Given the description of an element on the screen output the (x, y) to click on. 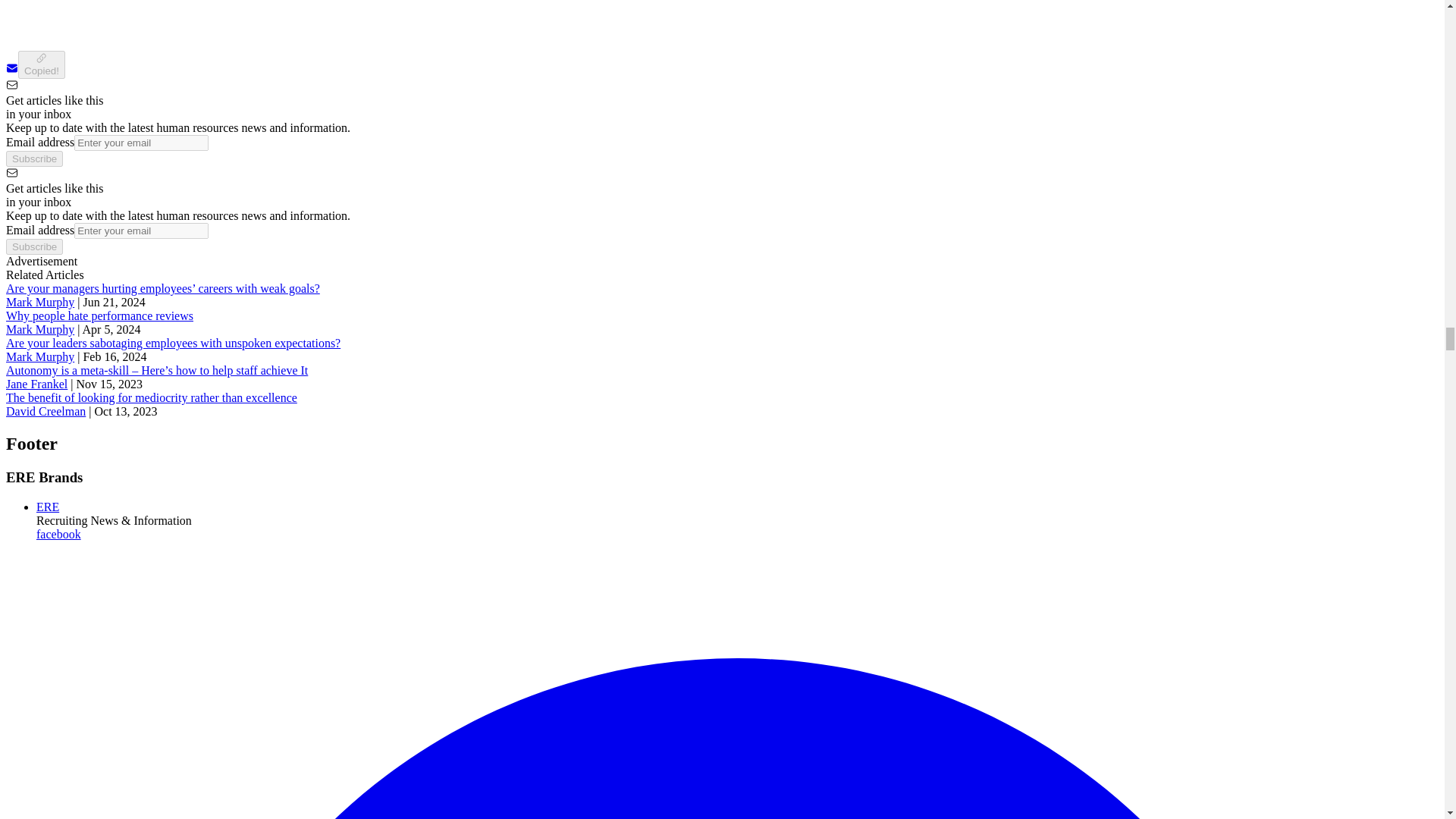
Mark Murphy (39, 356)
The benefit of looking for mediocrity rather than excellence (151, 397)
Subscribe (33, 246)
Copied! (41, 64)
Why people hate performance reviews (99, 315)
Mark Murphy (39, 301)
Mark Murphy (39, 328)
Subscribe (33, 158)
ERE (47, 506)
David Creelman (45, 410)
